Given the description of an element on the screen output the (x, y) to click on. 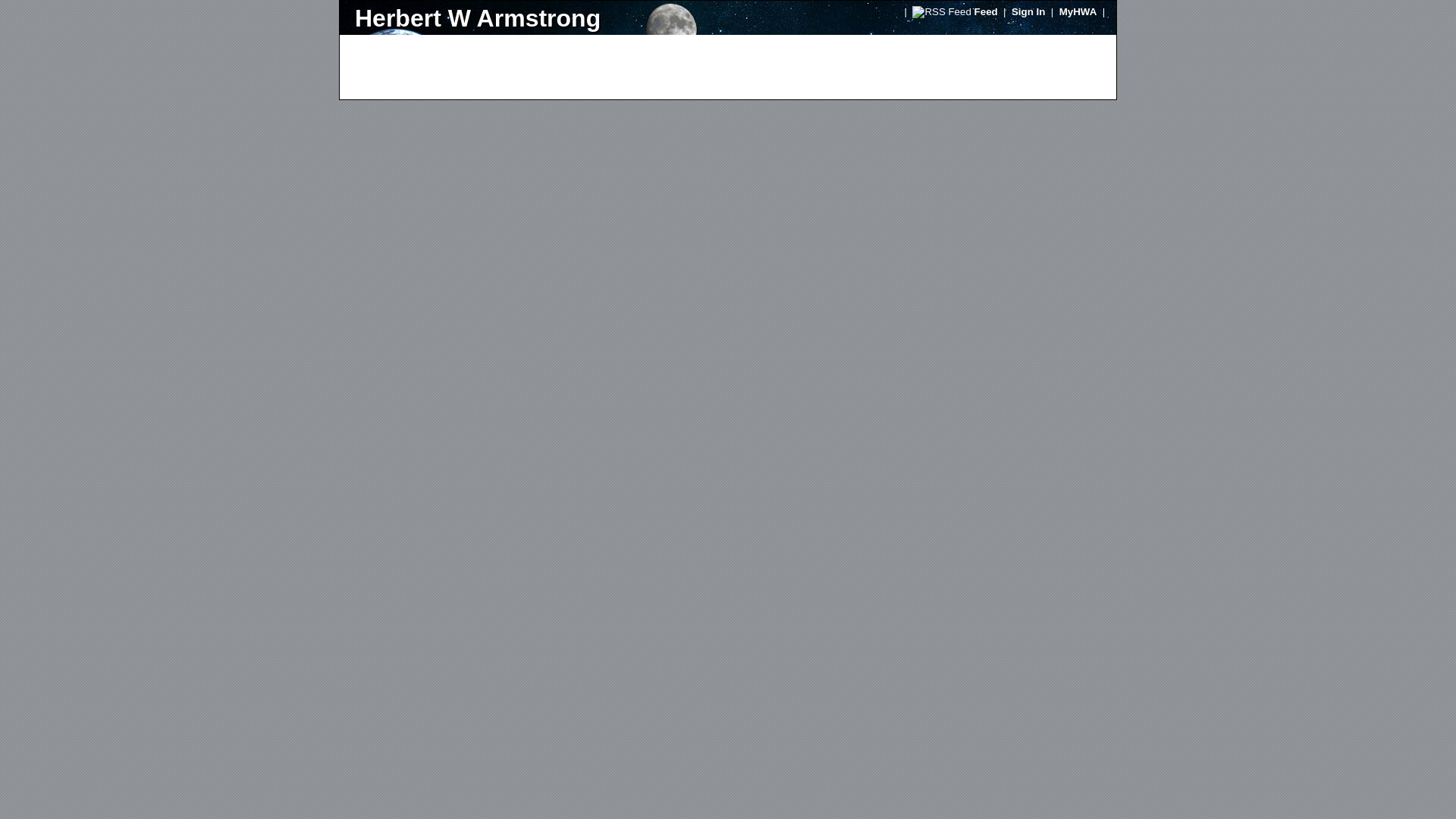
Herbert W Armstrong Library (533, 18)
Sign In (1028, 11)
Herbert W Armstrong (533, 18)
Feed (985, 11)
MyHWA (1078, 11)
